Given the description of an element on the screen output the (x, y) to click on. 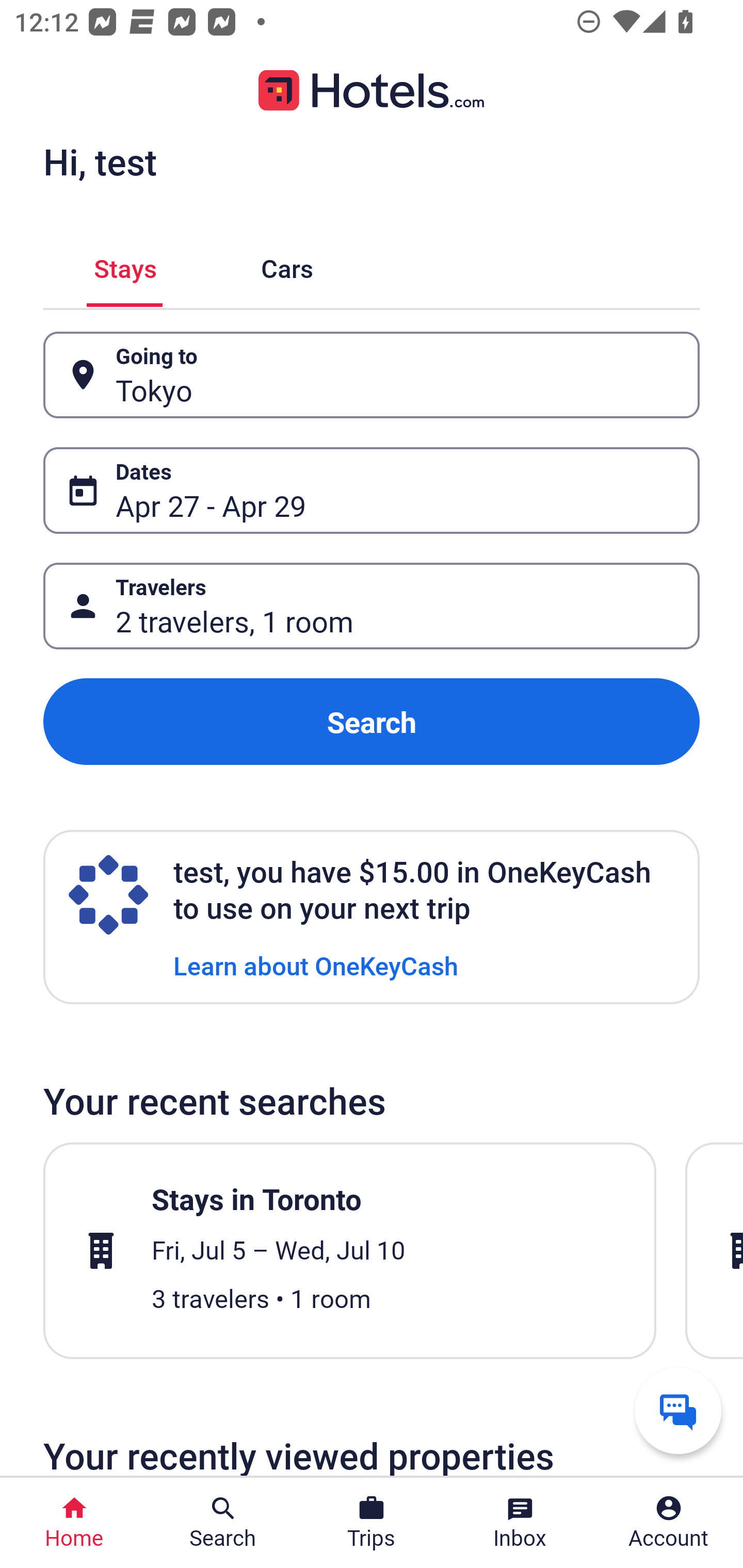
Hi, test (99, 161)
Cars (286, 265)
Going to Button Tokyo (371, 375)
Dates Button Apr 27 - Apr 29 (371, 489)
Travelers Button 2 travelers, 1 room (371, 605)
Search (371, 721)
Learn about OneKeyCash Learn about OneKeyCash Link (315, 964)
Get help from a virtual agent (677, 1410)
Search Search Button (222, 1522)
Trips Trips Button (371, 1522)
Inbox Inbox Button (519, 1522)
Account Profile. Button (668, 1522)
